Given the description of an element on the screen output the (x, y) to click on. 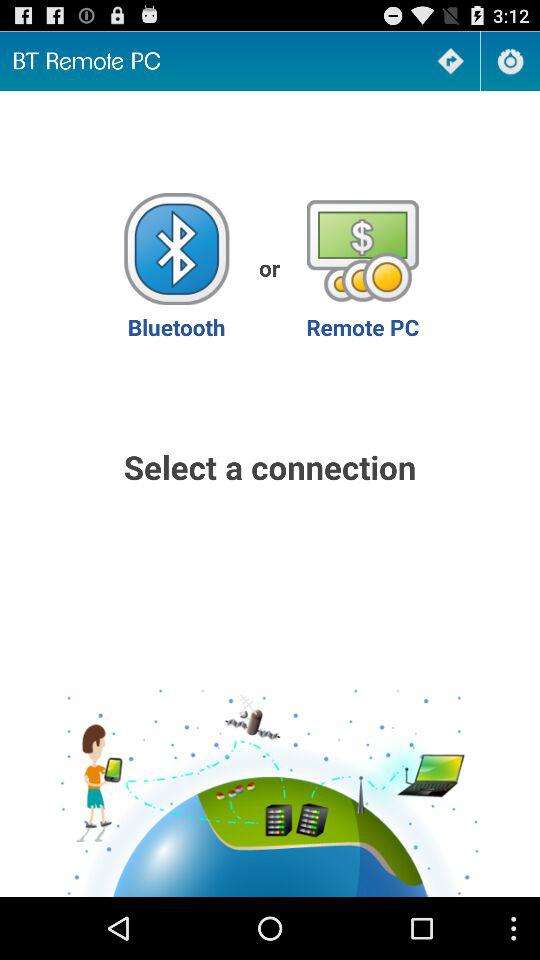
turn off item to the left of or item (176, 267)
